Given the description of an element on the screen output the (x, y) to click on. 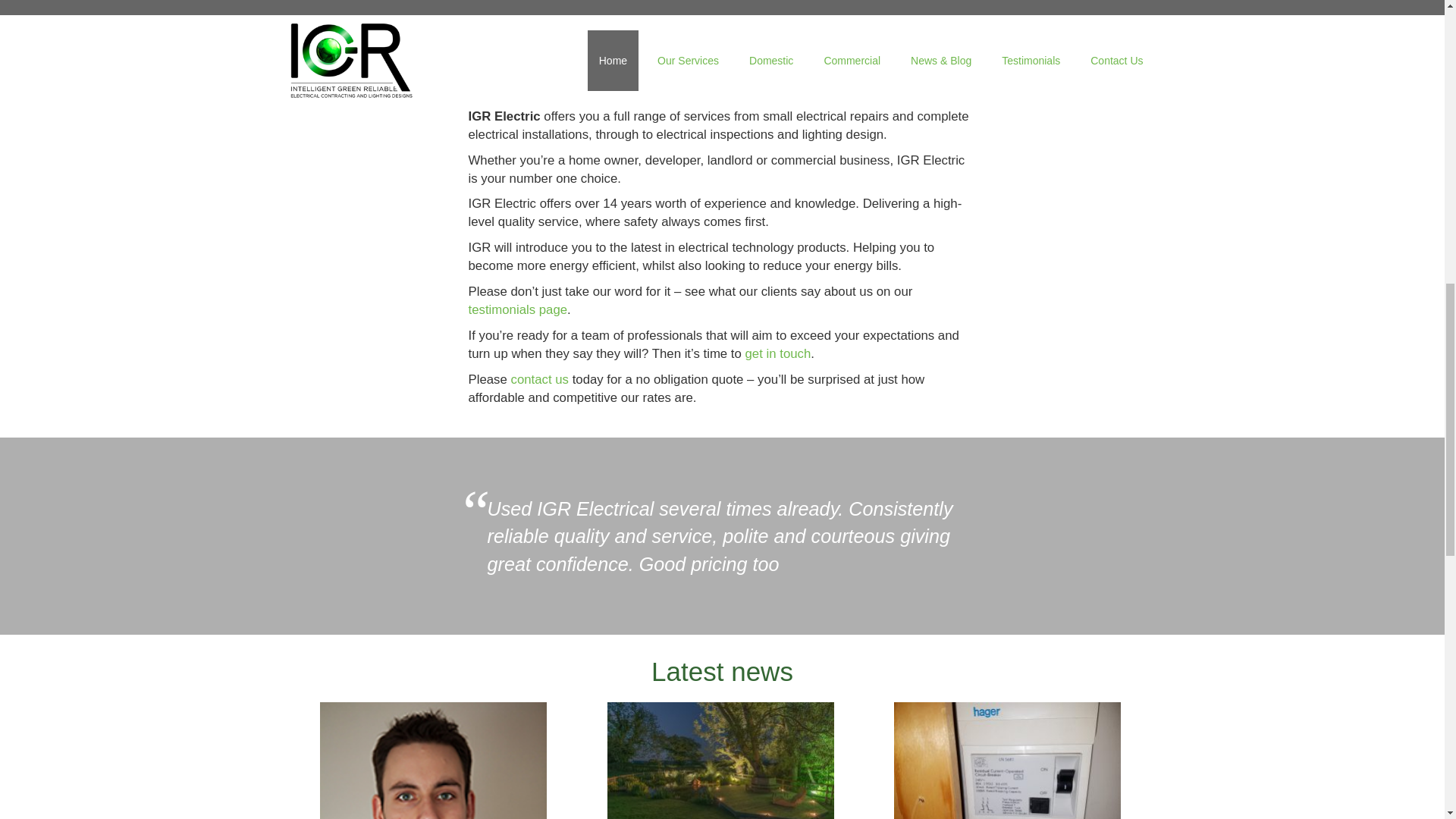
domestic (831, 72)
contact us (540, 379)
testimonials page (517, 309)
get in touch (777, 353)
commercial (759, 72)
